Given the description of an element on the screen output the (x, y) to click on. 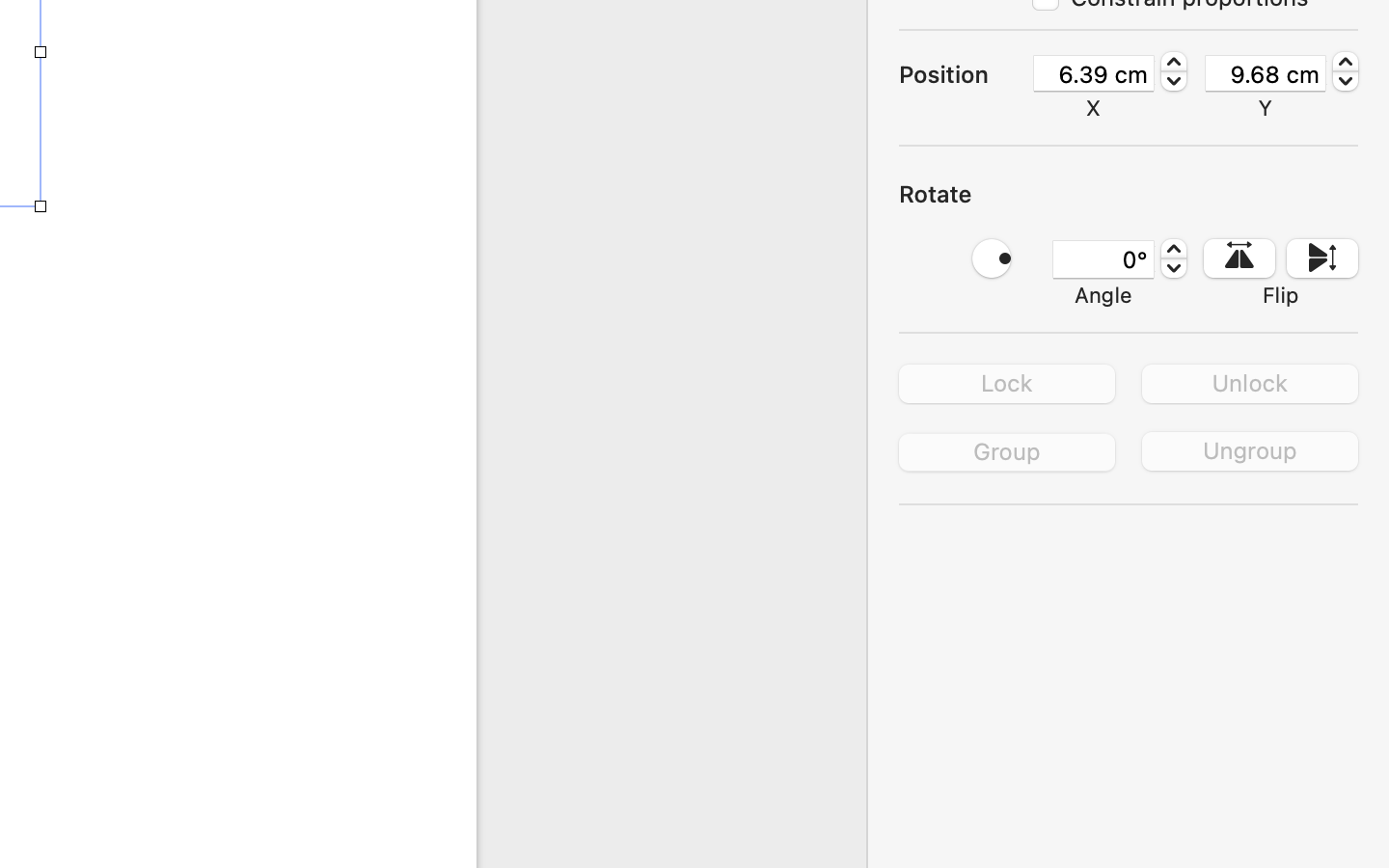
Position Element type: AXStaticText (964, 73)
6.39 cm Element type: AXTextField (1093, 73)
0.0 Element type: AXIncrementor (1173, 258)
X Element type: AXStaticText (1093, 107)
90.0 Element type: AXSlider (991, 258)
